Given the description of an element on the screen output the (x, y) to click on. 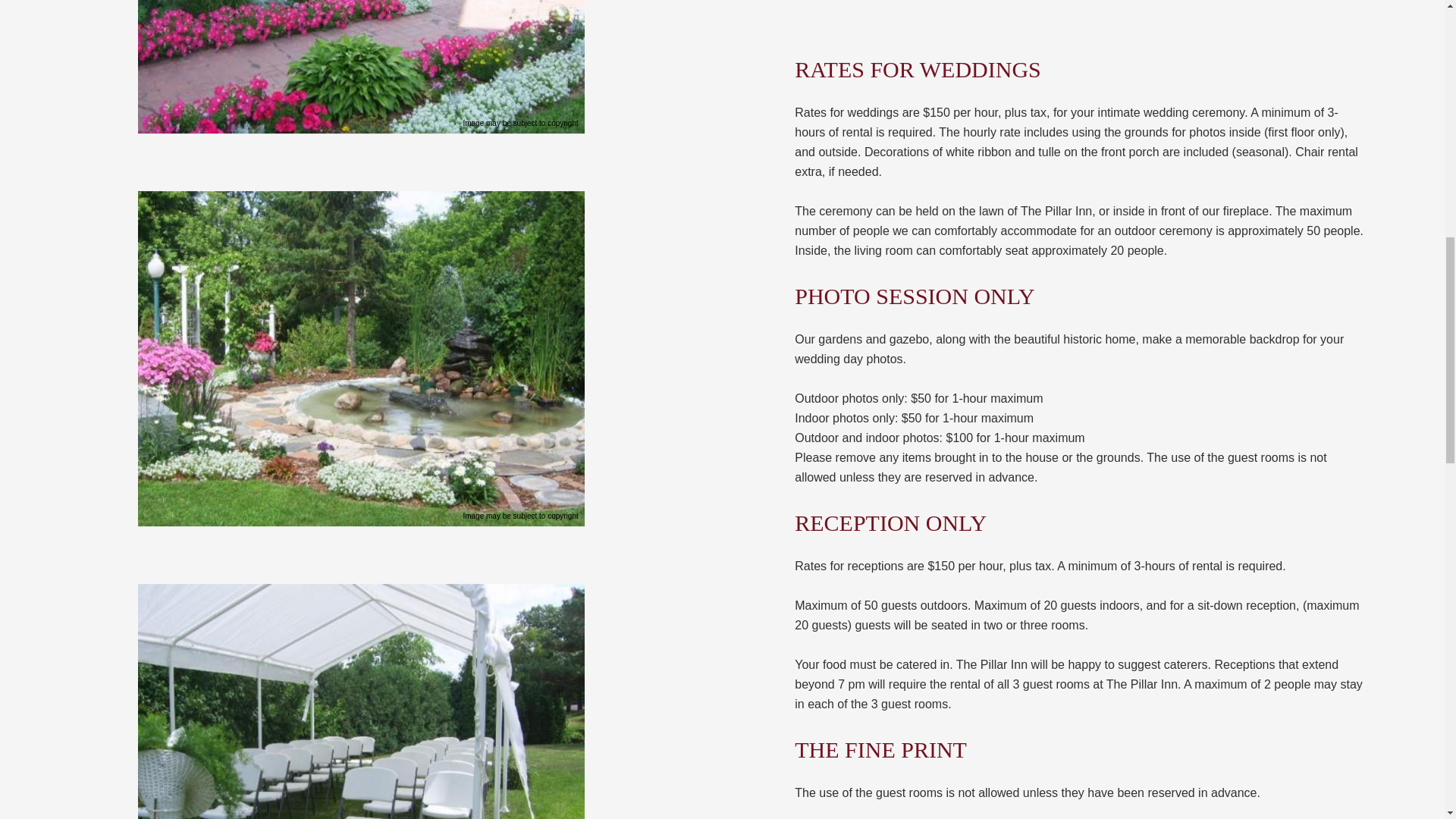
walkway in the garden (361, 66)
gazebo (361, 701)
